Given the description of an element on the screen output the (x, y) to click on. 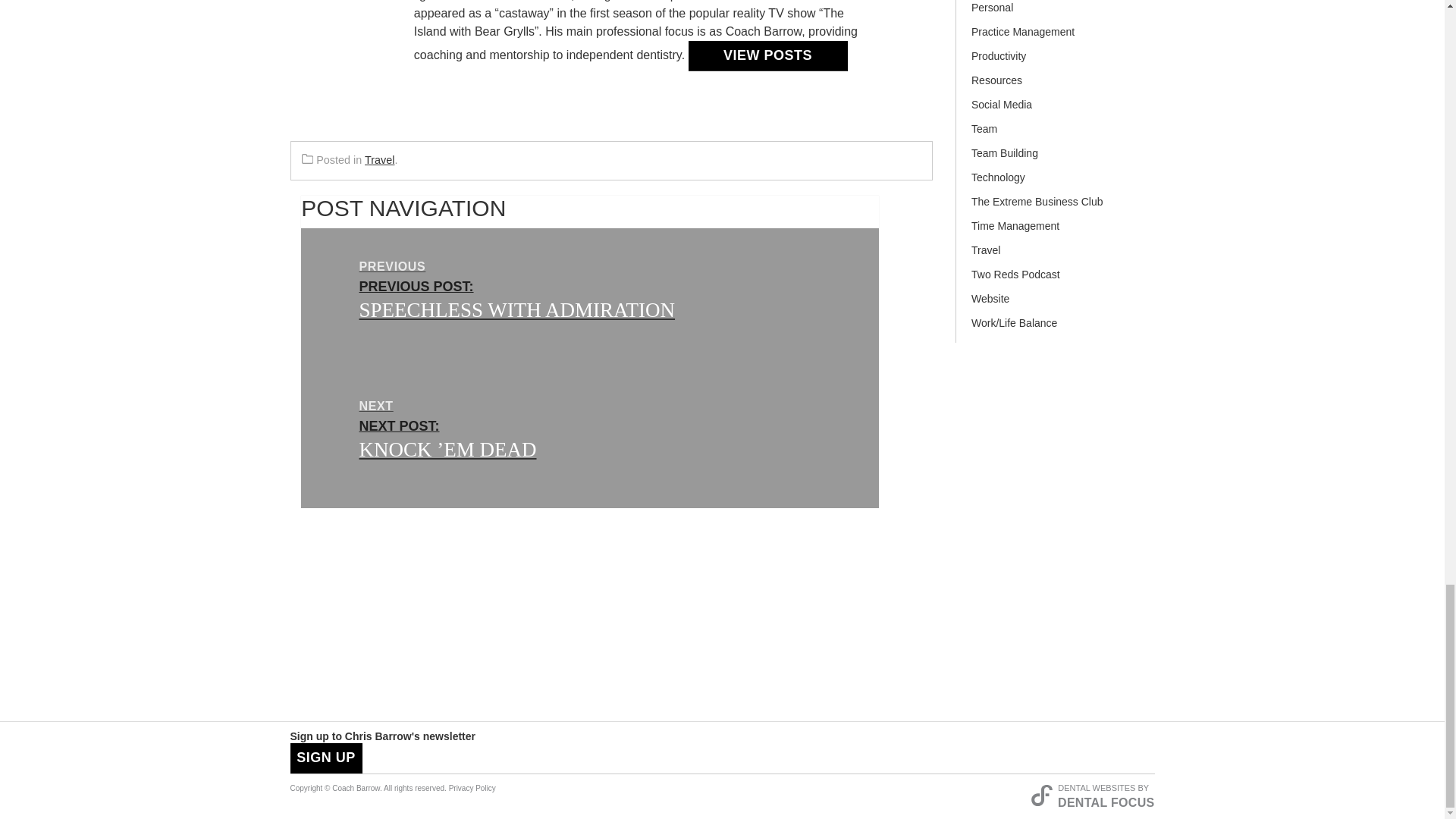
VIEW POSTS (767, 55)
Travel (379, 159)
